Given the description of an element on the screen output the (x, y) to click on. 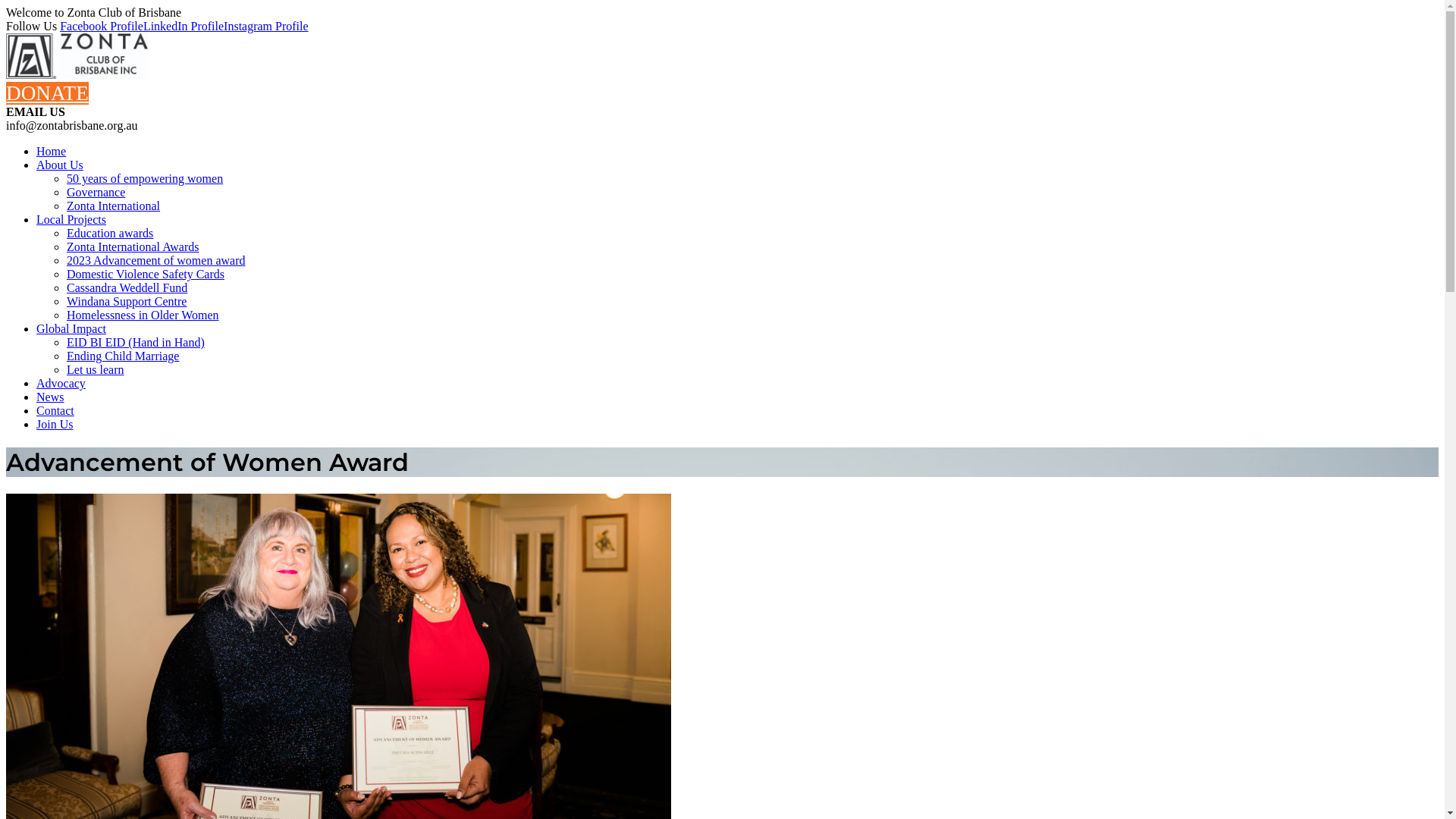
2023 Advancement of women award Element type: text (155, 260)
Facebook Profile Element type: text (101, 25)
Homelessness in Older Women Element type: text (142, 314)
Domestic Violence Safety Cards Element type: text (145, 273)
News Element type: text (49, 396)
DONATE Element type: text (47, 92)
Cassandra Weddell Fund Element type: text (126, 287)
About Us Element type: text (59, 164)
EID BI EID (Hand in Hand) Element type: text (135, 341)
Windana Support Centre Element type: text (126, 300)
Zonta International Awards Element type: text (132, 246)
Zonta Element type: hover (76, 74)
LinkedIn Profile Element type: text (183, 25)
Instagram Profile Element type: text (265, 25)
Contact Element type: text (55, 410)
Advocacy Element type: text (60, 382)
Let us learn Element type: text (95, 369)
Join Us Element type: text (54, 423)
Zonta International Element type: text (113, 205)
Governance Element type: text (95, 191)
Global Impact Element type: text (71, 328)
Education awards Element type: text (109, 232)
Ending Child Marriage Element type: text (122, 355)
Home Element type: text (50, 150)
50 years of empowering women Element type: text (144, 178)
Local Projects Element type: text (71, 219)
